Given the description of an element on the screen output the (x, y) to click on. 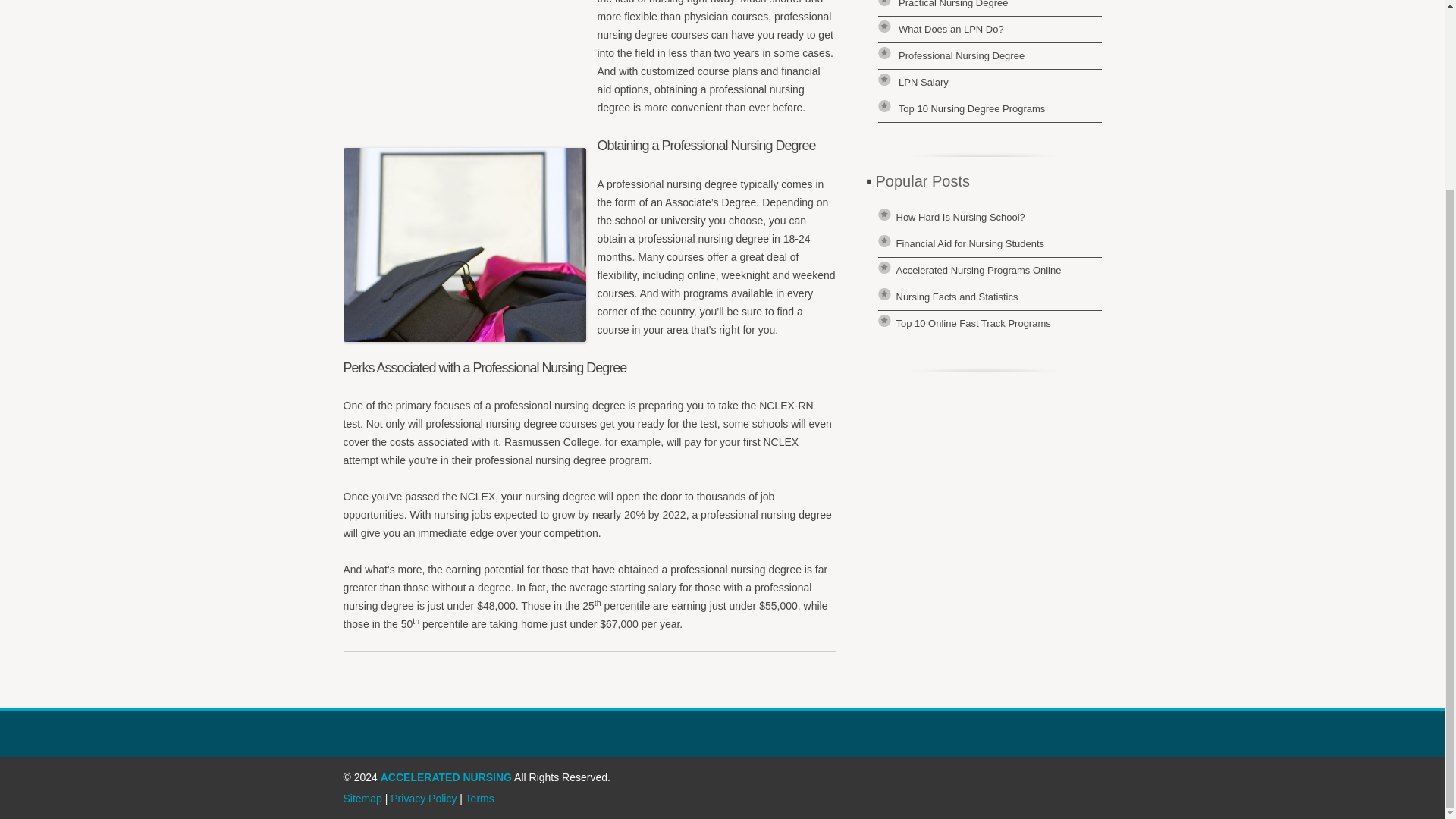
Professional Nursing Degree (961, 55)
ACCELERATED NURSING (446, 776)
What Does an LPN Do? (951, 29)
Top 10 Online Fast Track Programs (973, 323)
LPN Salary (923, 81)
Accelerated Nursing Programs Online (978, 270)
ACCELERATED NURSING (446, 776)
Terms (480, 798)
Financial Aid for Nursing Students (970, 243)
Privacy Policy (423, 798)
Terms of Use (480, 798)
Sitemap (361, 798)
Practical Nursing Degree (952, 4)
View Sitemap (361, 798)
Nursing Facts and Statistics (956, 296)
